Given the description of an element on the screen output the (x, y) to click on. 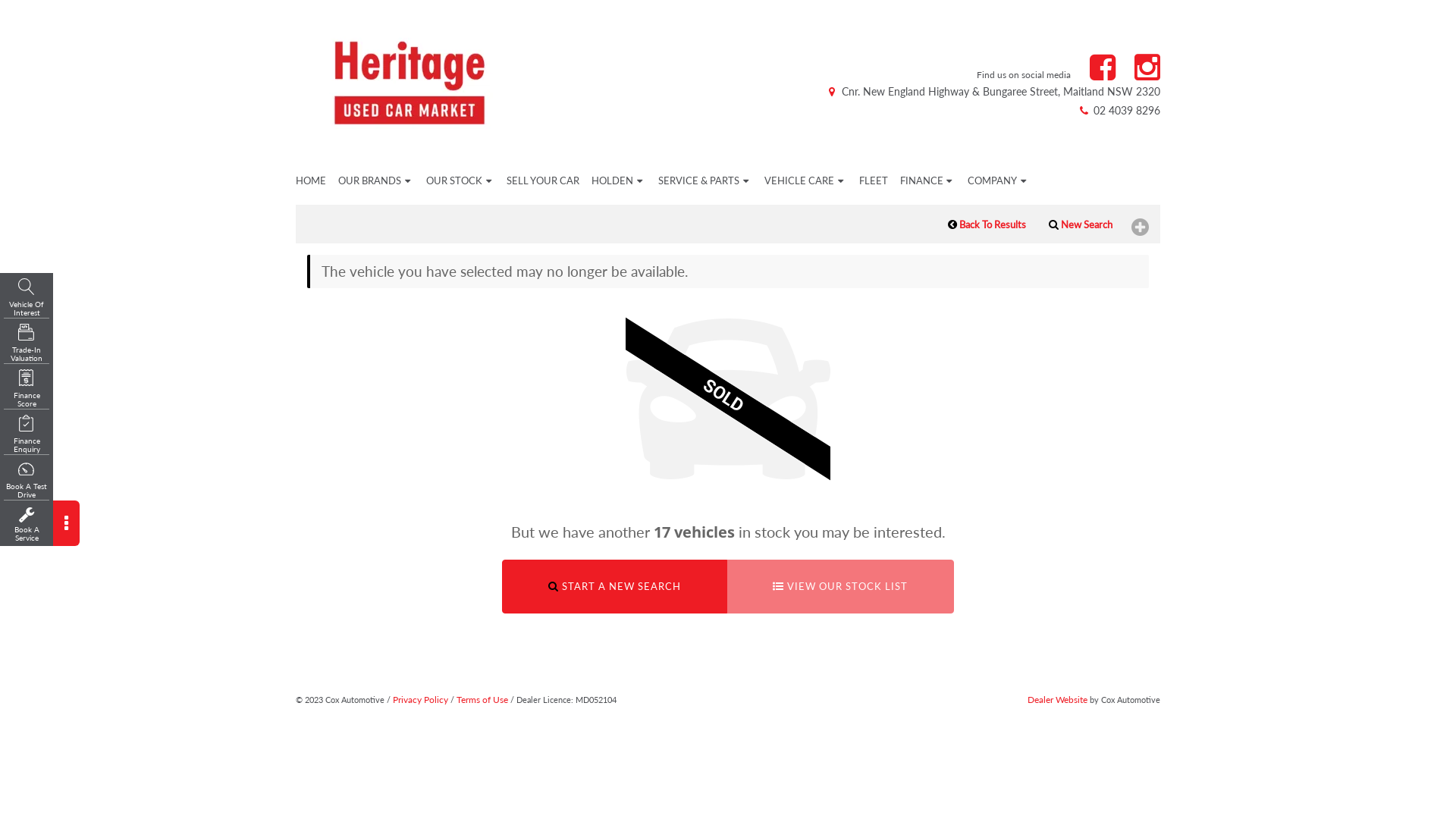
02 4039 8296 Element type: text (1118, 109)
New Search Element type: text (1080, 224)
Trade-In Valuation Element type: text (26, 343)
VEHICLE CARE Element type: text (805, 180)
Instagram Element type: hover (1147, 67)
FLEET Element type: text (873, 180)
Finance Score Element type: text (26, 388)
SERVICE & PARTS Element type: text (705, 180)
Dealer Website Element type: text (1057, 699)
VIEW OUR STOCK LIST Element type: text (839, 586)
COMPANY Element type: text (998, 180)
OUR BRANDS Element type: text (376, 180)
FINANCE Element type: text (928, 180)
Book A Test Drive Element type: text (26, 479)
START A NEW SEARCH Element type: text (614, 586)
Facebook Element type: hover (1102, 67)
Privacy Policy Element type: text (420, 699)
Book A Service Element type: text (26, 523)
Back To Results Element type: text (986, 224)
HOME Element type: text (306, 180)
Finance Enquiry Element type: text (26, 434)
HOLDEN Element type: text (618, 180)
SELL YOUR CAR Element type: text (542, 180)
OUR STOCK Element type: text (460, 180)
Vehicle Of Interest Element type: text (26, 297)
Terms of Use Element type: text (482, 699)
